Given the description of an element on the screen output the (x, y) to click on. 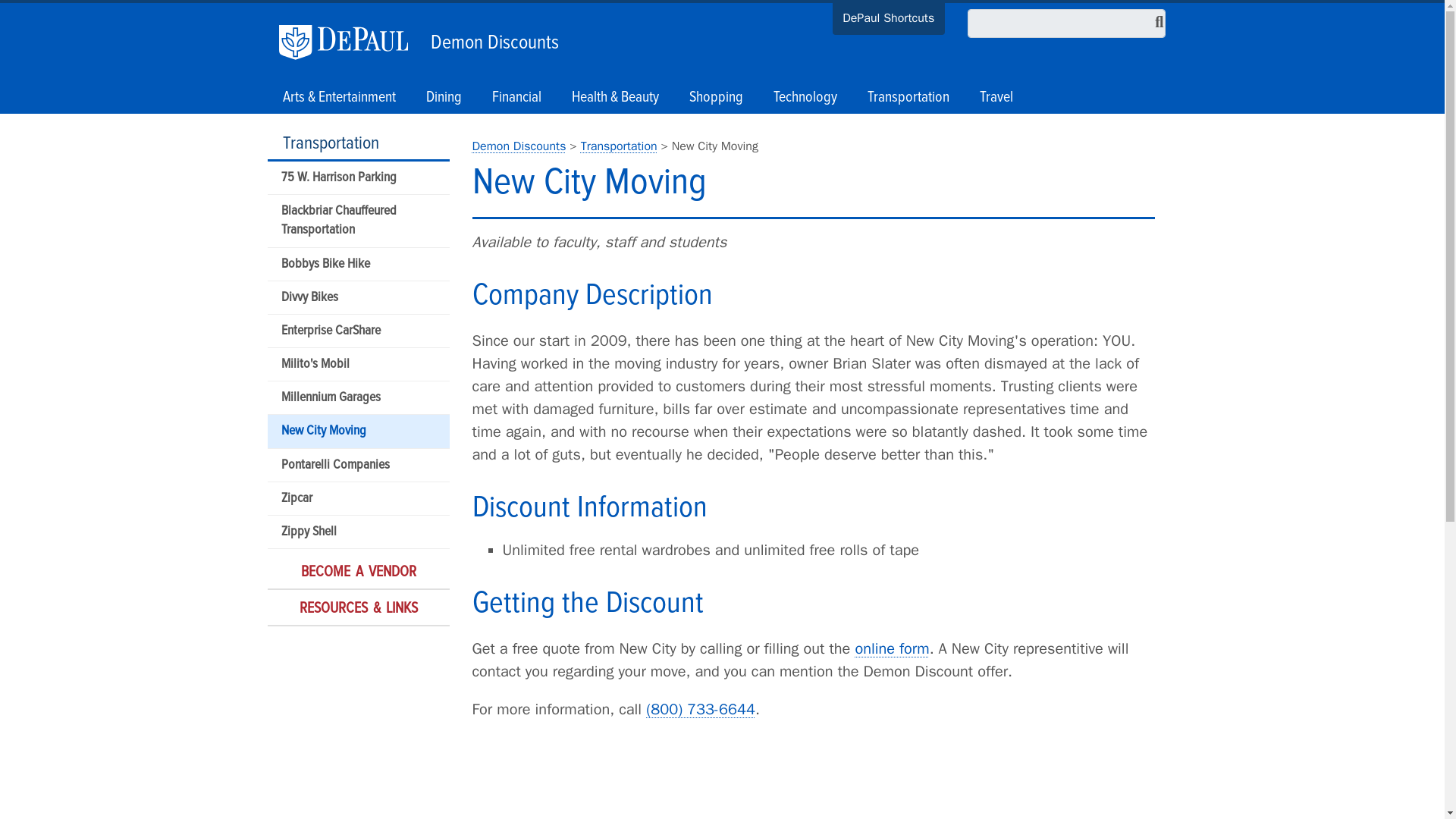
Demon Discounts (491, 39)
DePaul University Demon Discounts (518, 145)
DePaul Shortcuts (888, 20)
DePaul University (351, 42)
